Given the description of an element on the screen output the (x, y) to click on. 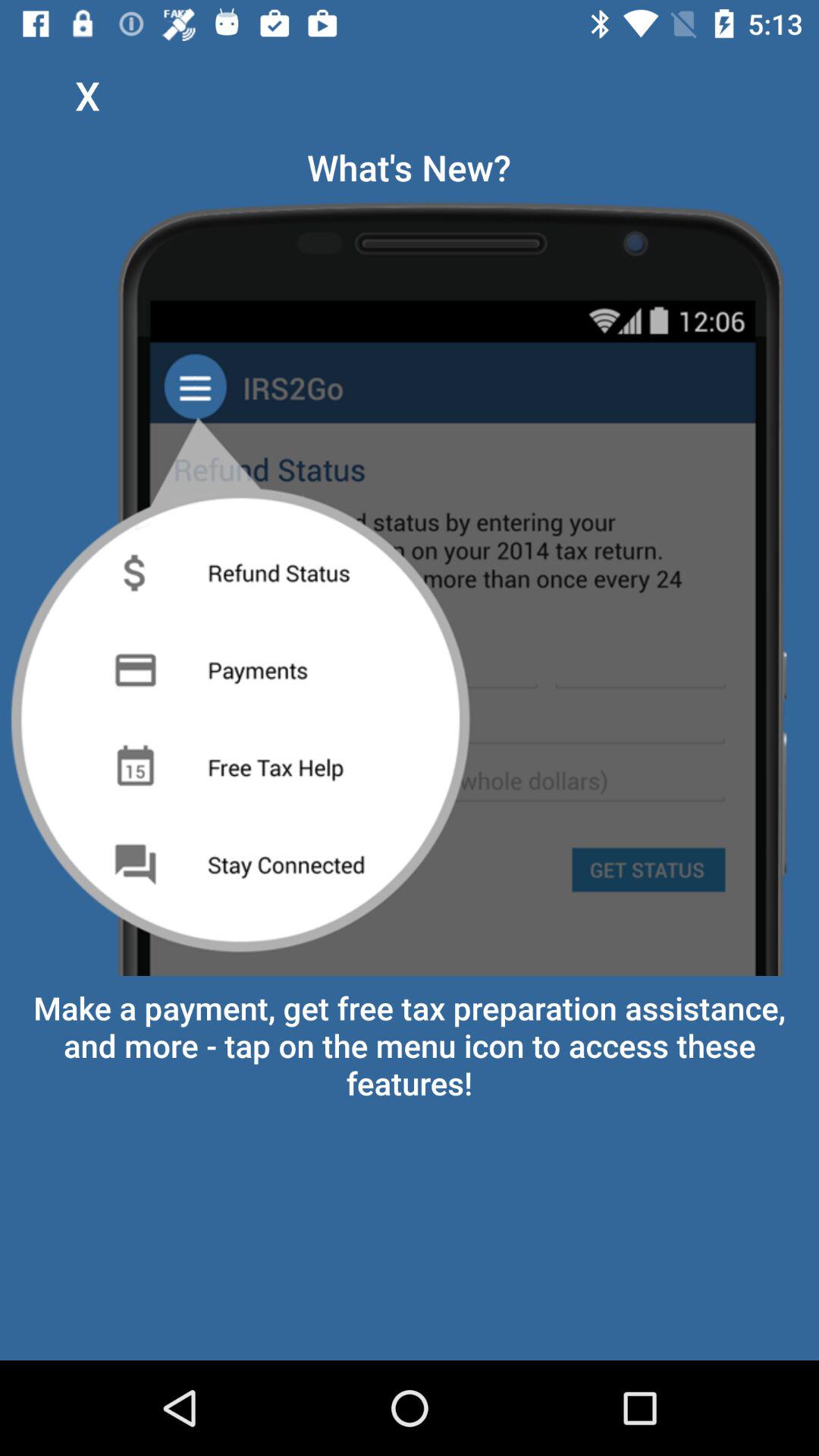
choose the item to the left of the what's new? icon (87, 95)
